Given the description of an element on the screen output the (x, y) to click on. 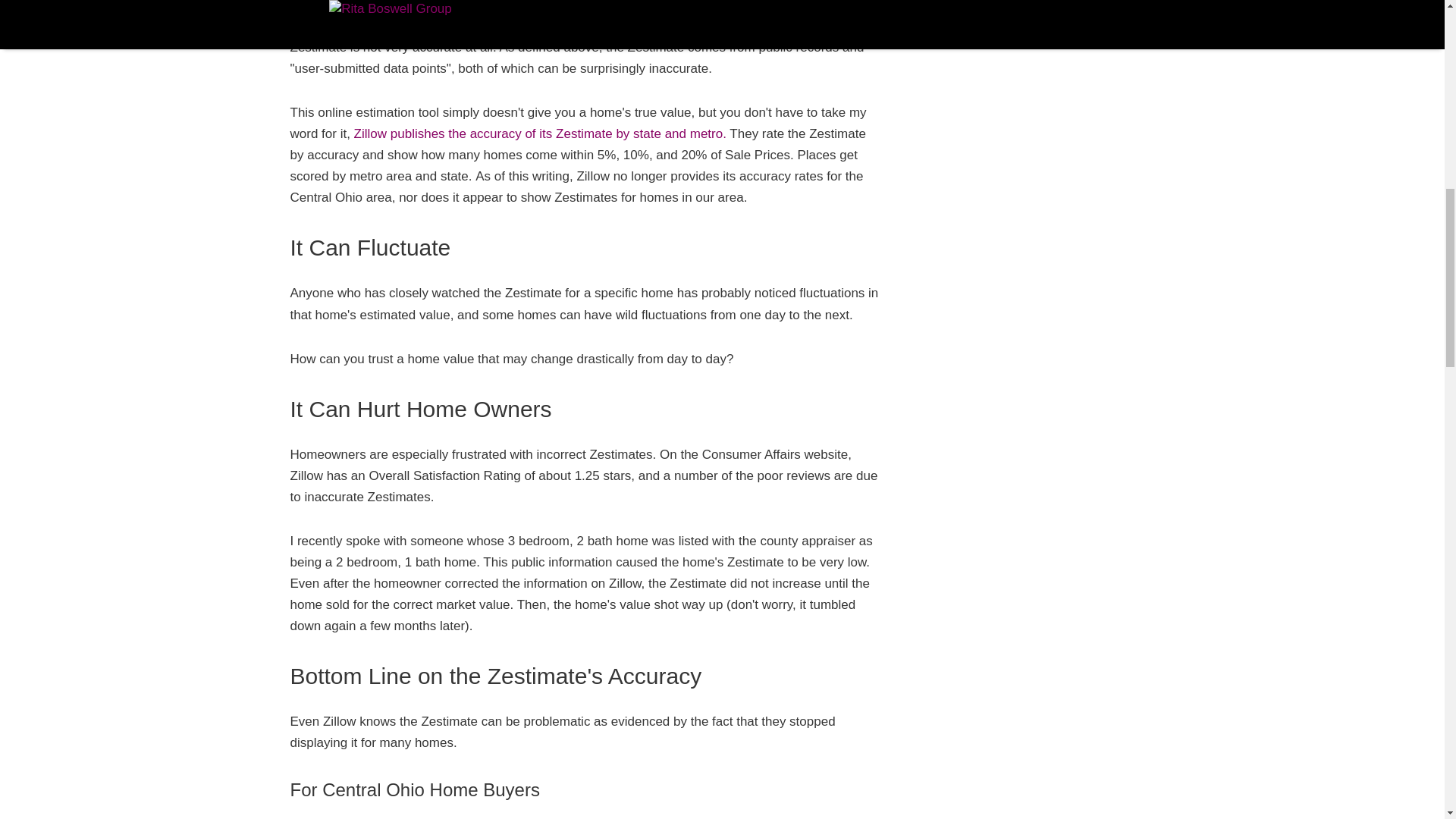
Zillow's Zestimate Accuracy Rate According To Zillow (539, 133)
